Given the description of an element on the screen output the (x, y) to click on. 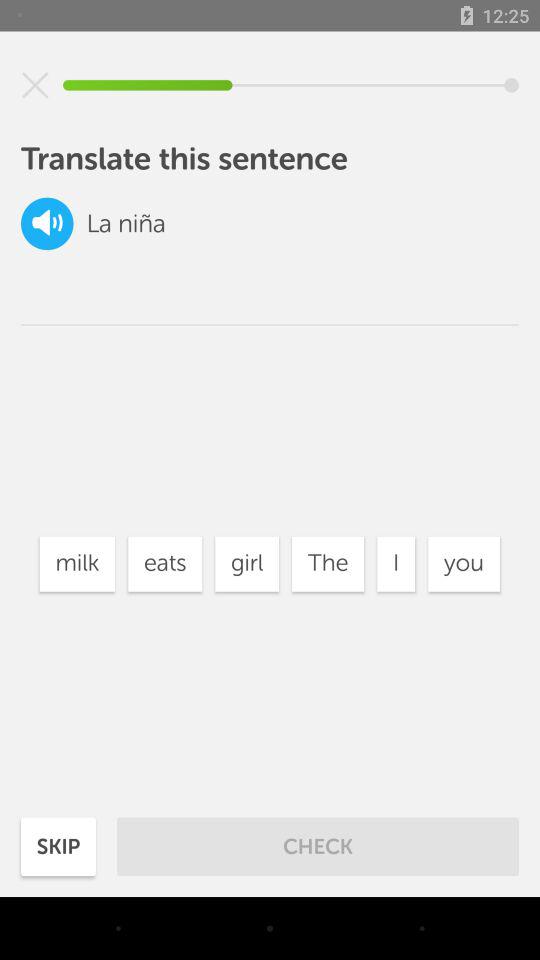
choose eats (165, 563)
